Given the description of an element on the screen output the (x, y) to click on. 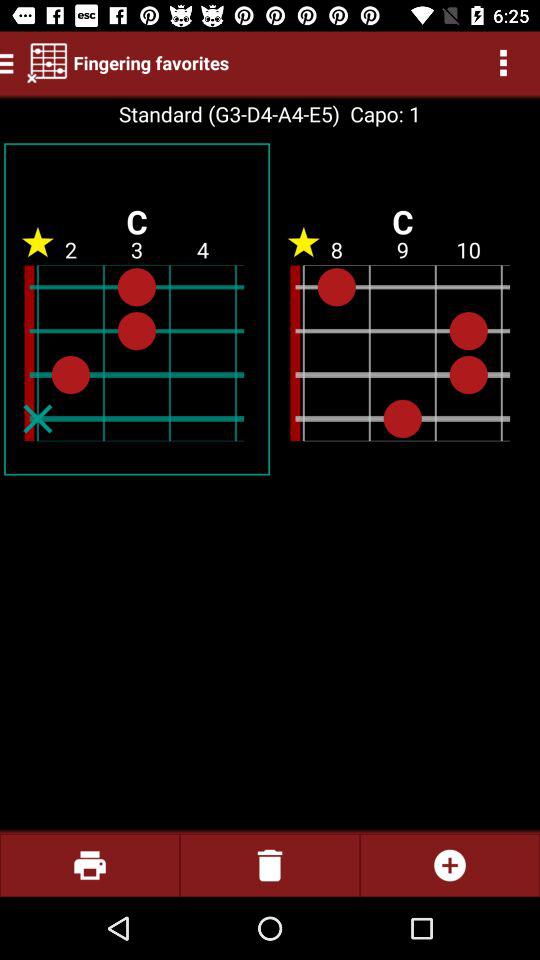
press item next to the fingering favorites (47, 62)
